Given the description of an element on the screen output the (x, y) to click on. 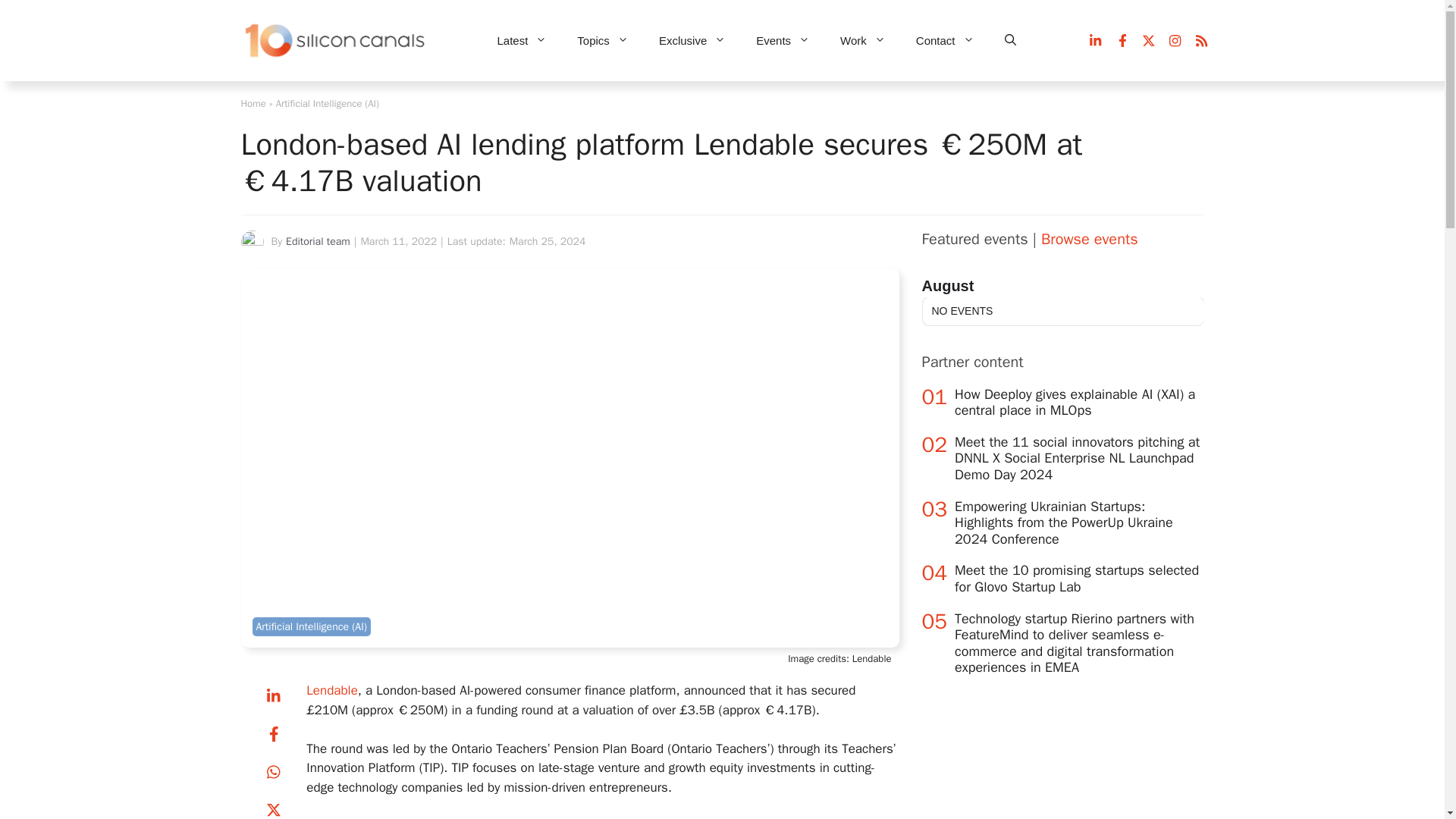
Exclusive (692, 40)
Topics (602, 40)
Work (863, 40)
Events (783, 40)
Latest (521, 40)
SC 10 year horizontal (335, 40)
